Given the description of an element on the screen output the (x, y) to click on. 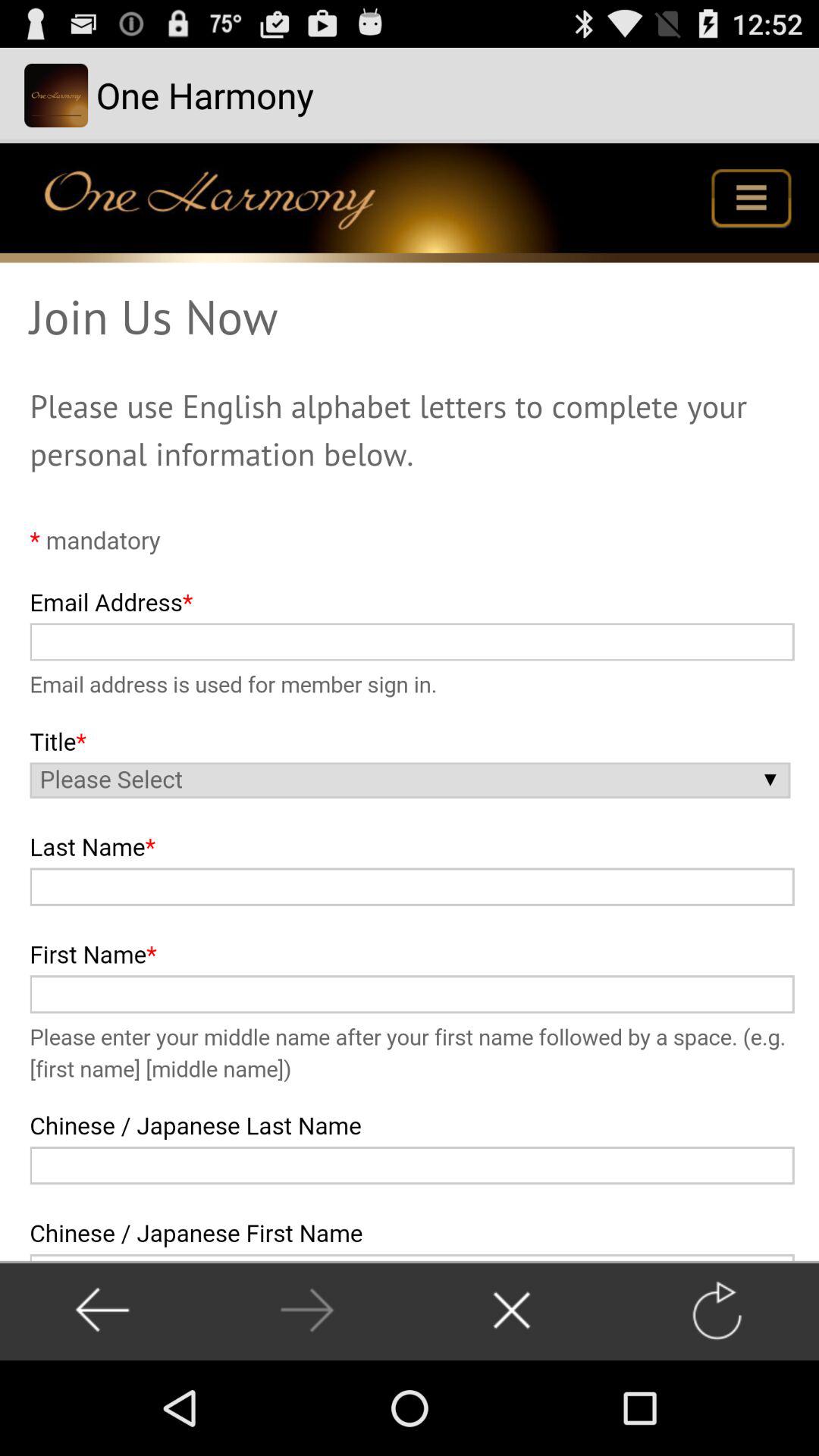
go forward (306, 1310)
